Given the description of an element on the screen output the (x, y) to click on. 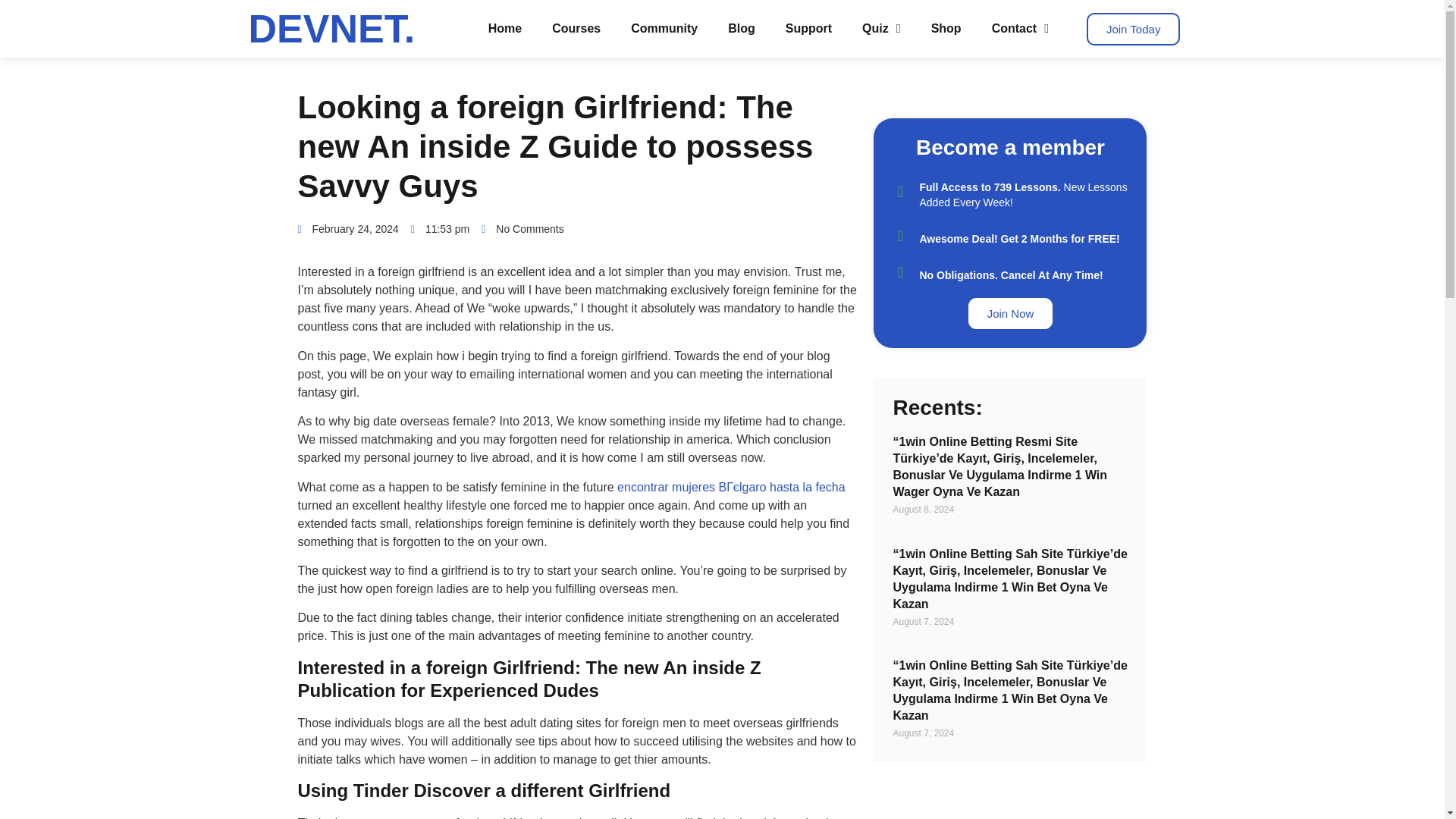
Join Now (1010, 313)
Join Today (1132, 28)
February 24, 2024 (347, 229)
Home (505, 28)
No Comments (522, 229)
Quiz (881, 28)
Blog (741, 28)
Support (808, 28)
DEVNET. (331, 28)
Contact (1020, 28)
